Given the description of an element on the screen output the (x, y) to click on. 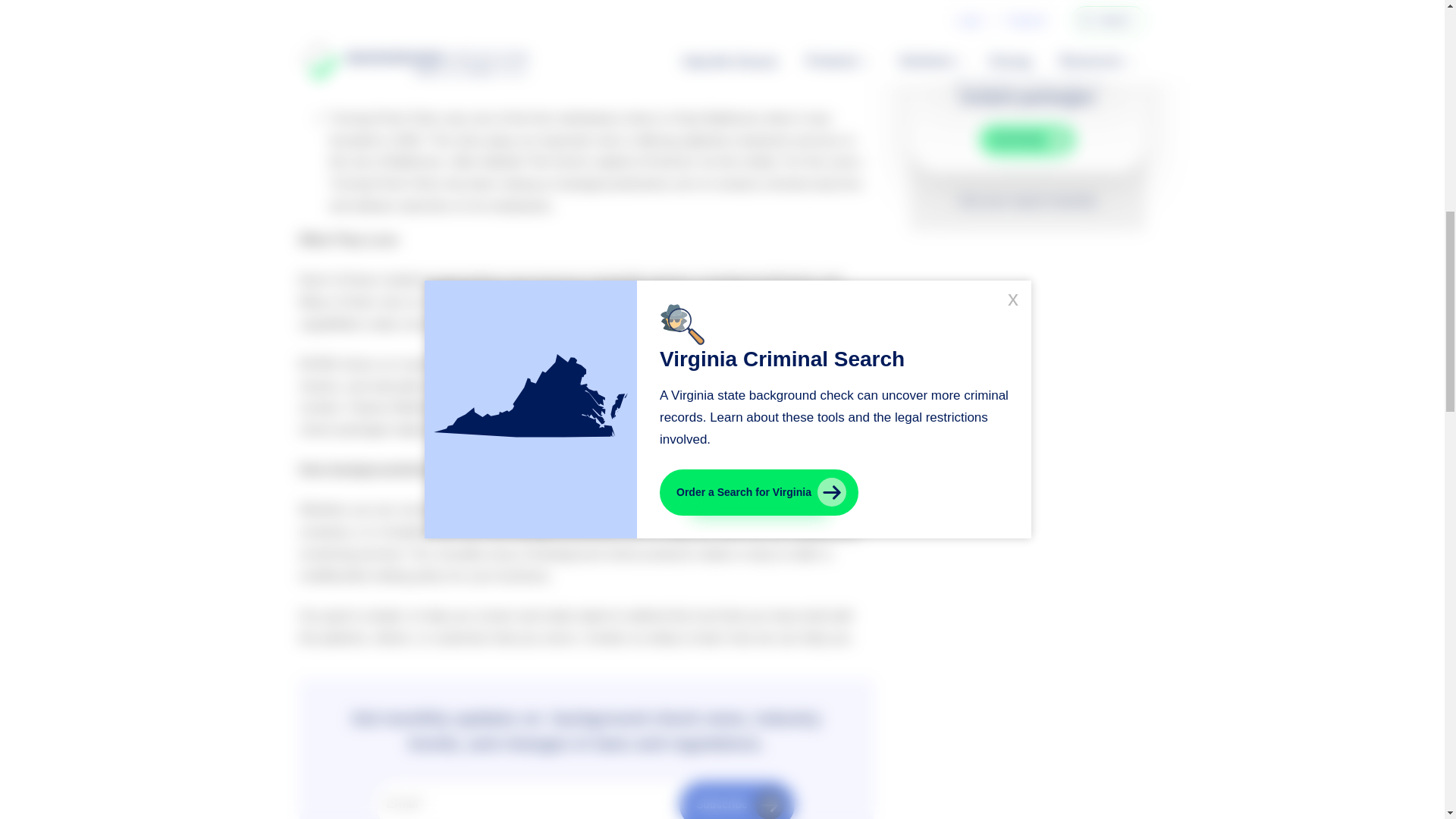
Subscribe (736, 800)
